Given the description of an element on the screen output the (x, y) to click on. 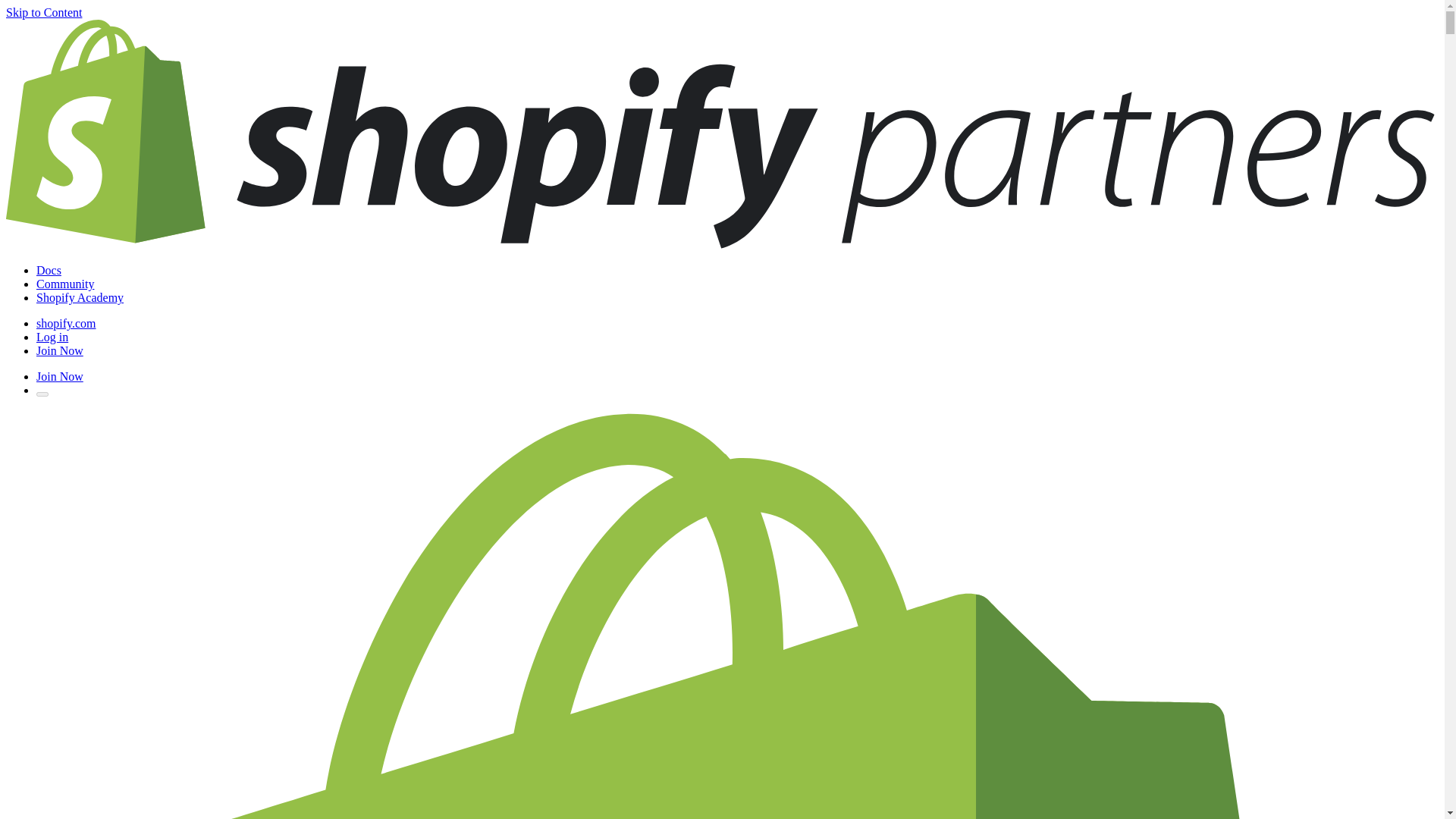
Join Now (59, 376)
shopify.com (66, 323)
Join Now (59, 350)
Docs (48, 269)
Community (65, 283)
Skip to Content (43, 11)
Log in (52, 336)
Shopify Academy (79, 297)
